Given the description of an element on the screen output the (x, y) to click on. 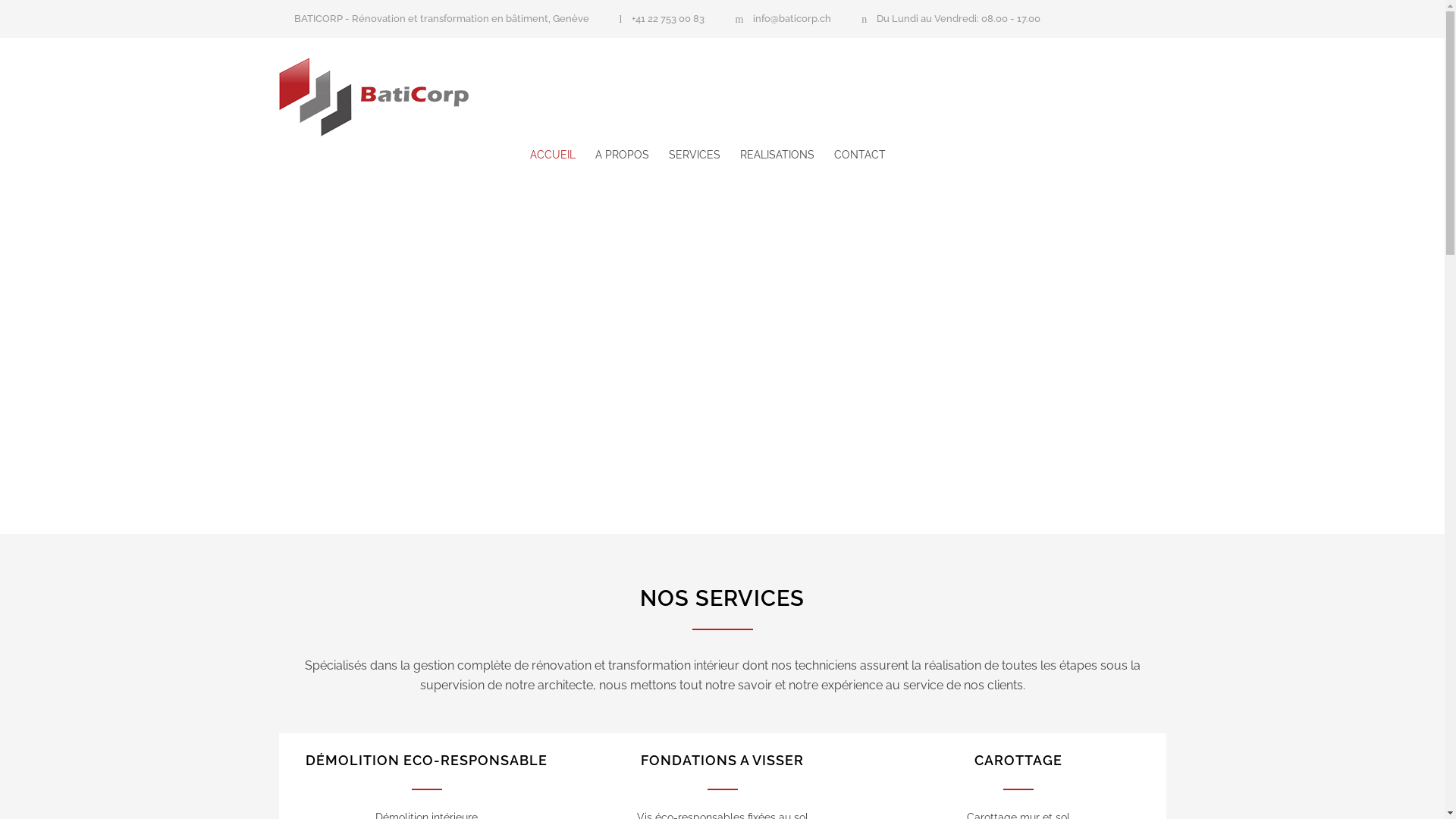
REALISATIONS Element type: text (767, 154)
BATICORP Element type: hover (419, 96)
CONTACT Element type: text (849, 154)
FONDATIONS A VISSER Element type: text (721, 760)
ACCUEIL Element type: text (551, 154)
A PROPOS Element type: text (611, 154)
CAROTTAGE Element type: text (1017, 760)
SERVICES Element type: text (684, 154)
